Given the description of an element on the screen output the (x, y) to click on. 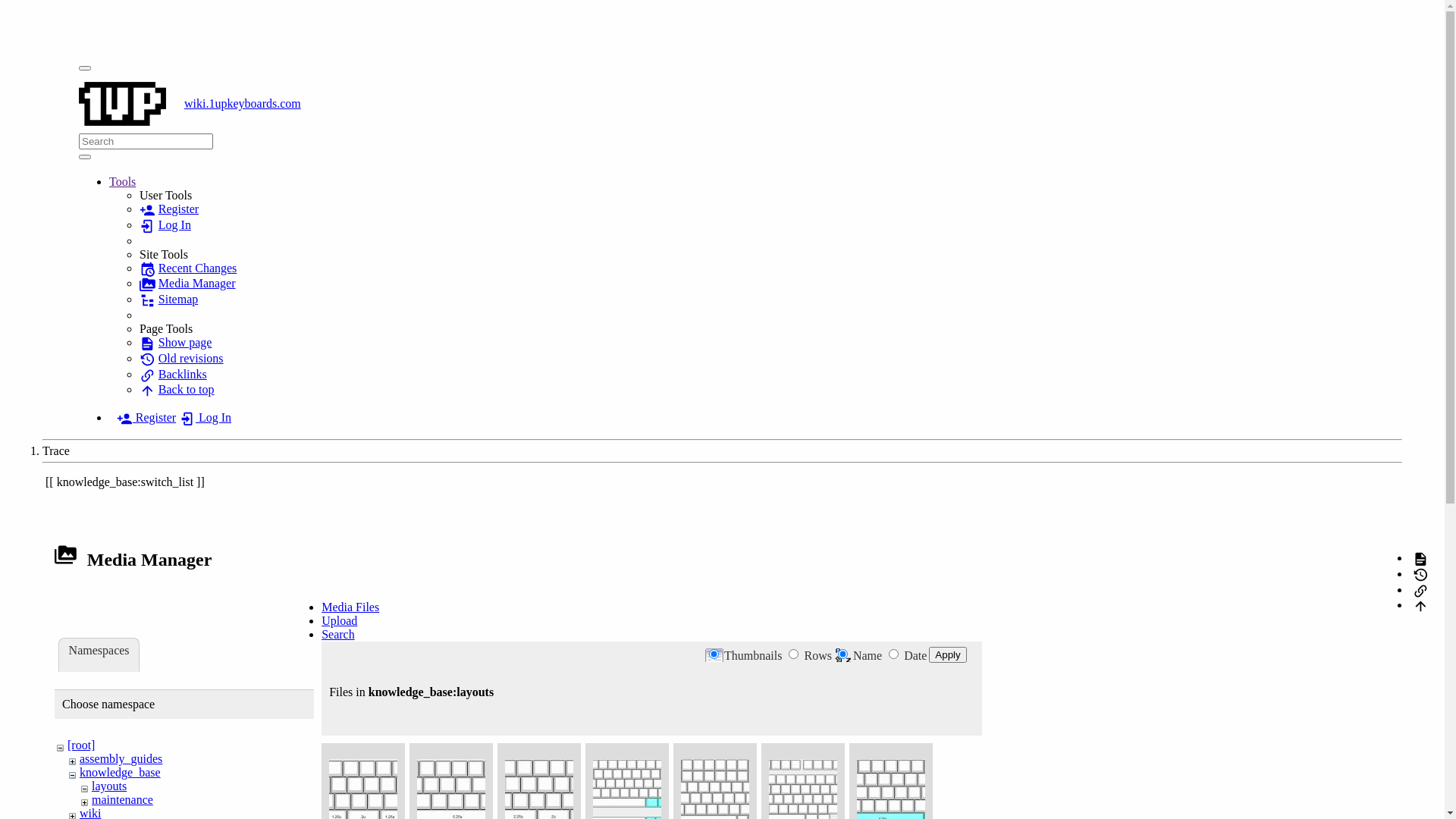
Show page Element type: text (175, 341)
Log In Element type: text (165, 224)
Upload Element type: text (339, 620)
Backlinks Element type: hover (1420, 589)
maintenance Element type: text (122, 799)
Back to top [t] Element type: hover (1420, 604)
Sitemap Element type: text (168, 298)
Old revisions [o] Element type: hover (1420, 573)
Media Manager Element type: text (187, 282)
Old revisions Element type: text (181, 357)
layouts Element type: text (108, 785)
Register Element type: text (168, 208)
Show page [v] Element type: hover (1420, 557)
[F] Element type: hover (145, 141)
Back to top Element type: text (176, 388)
Log In Element type: text (205, 417)
Apply Element type: text (947, 654)
Media Files Element type: text (350, 606)
Tools Element type: text (122, 181)
Search Element type: text (337, 633)
assembly_guides Element type: text (120, 758)
wiki.1upkeyboards.com Element type: text (721, 103)
Backlinks Element type: text (173, 373)
knowledge_base Element type: text (119, 771)
[root] Element type: text (80, 744)
Search Element type: hover (84, 156)
Register Element type: text (145, 417)
Recent Changes Element type: text (187, 267)
